Given the description of an element on the screen output the (x, y) to click on. 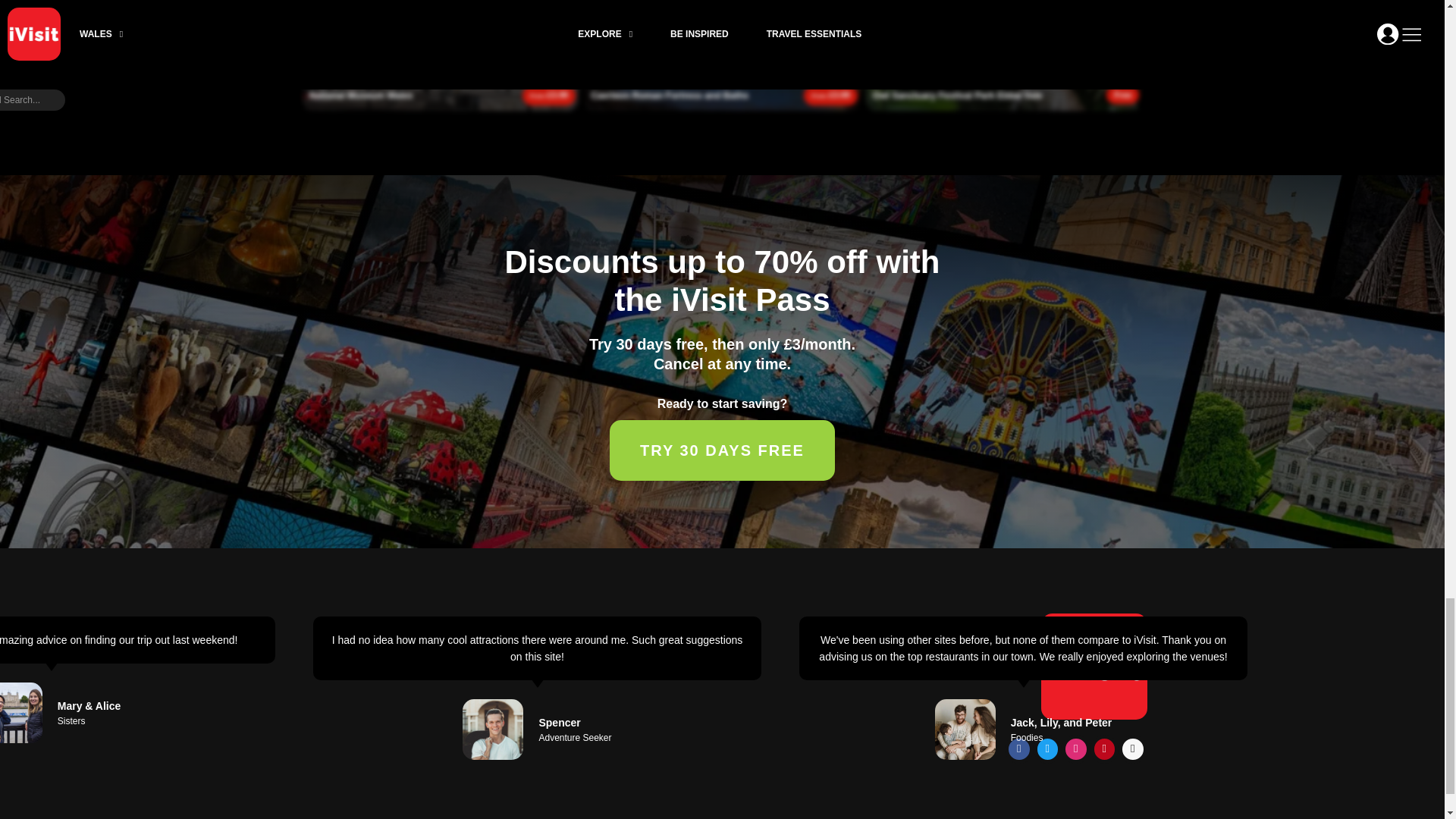
TRY 30 DAYS FREE (722, 450)
